Given the description of an element on the screen output the (x, y) to click on. 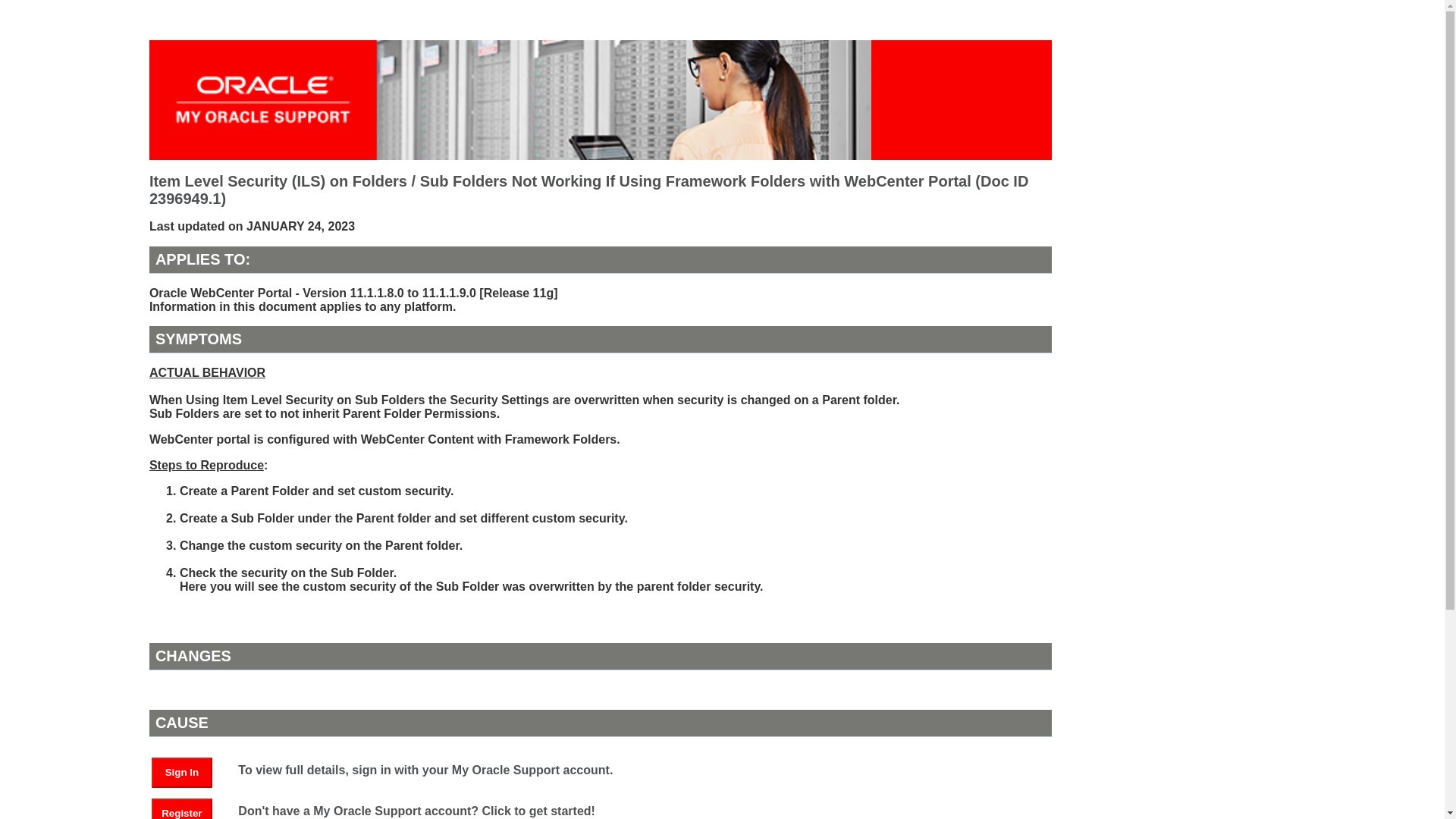
Sign In (181, 772)
Register (189, 812)
Register (181, 808)
Sign In (189, 771)
